Given the description of an element on the screen output the (x, y) to click on. 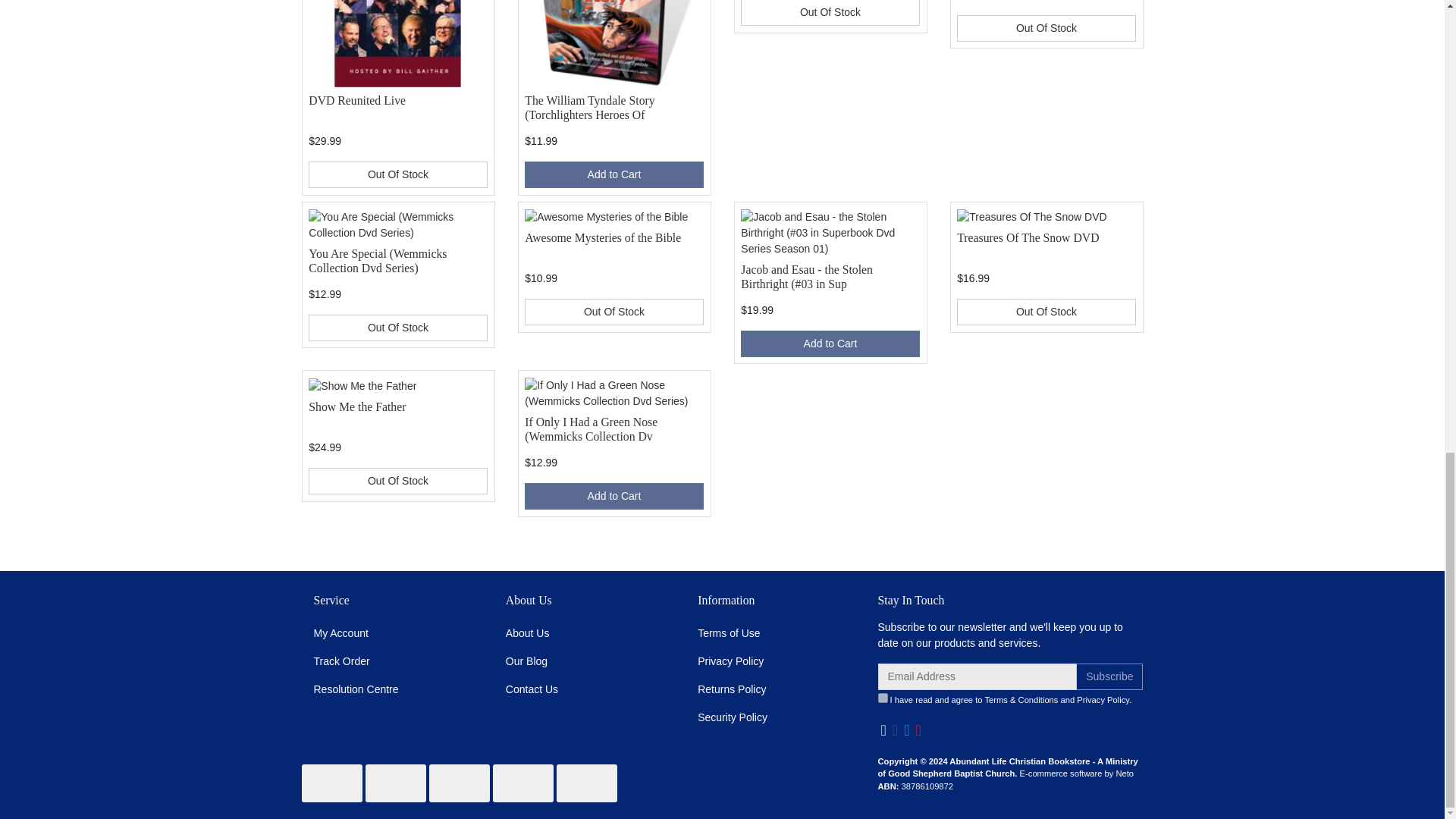
Notify Me When Treasures Of The Snow DVD Is Back In Stock (1045, 311)
Notify Me When DVD Reunited Live Is Back In Stock (397, 174)
Notify Me When Show Me the Father Is Back In Stock (397, 480)
y (882, 697)
Subscribe (1108, 676)
Notify Me When Astronomy Volume 3 Is Back In Stock (829, 12)
Neto E-commerce Retail Management Platform (1077, 773)
